Given the description of an element on the screen output the (x, y) to click on. 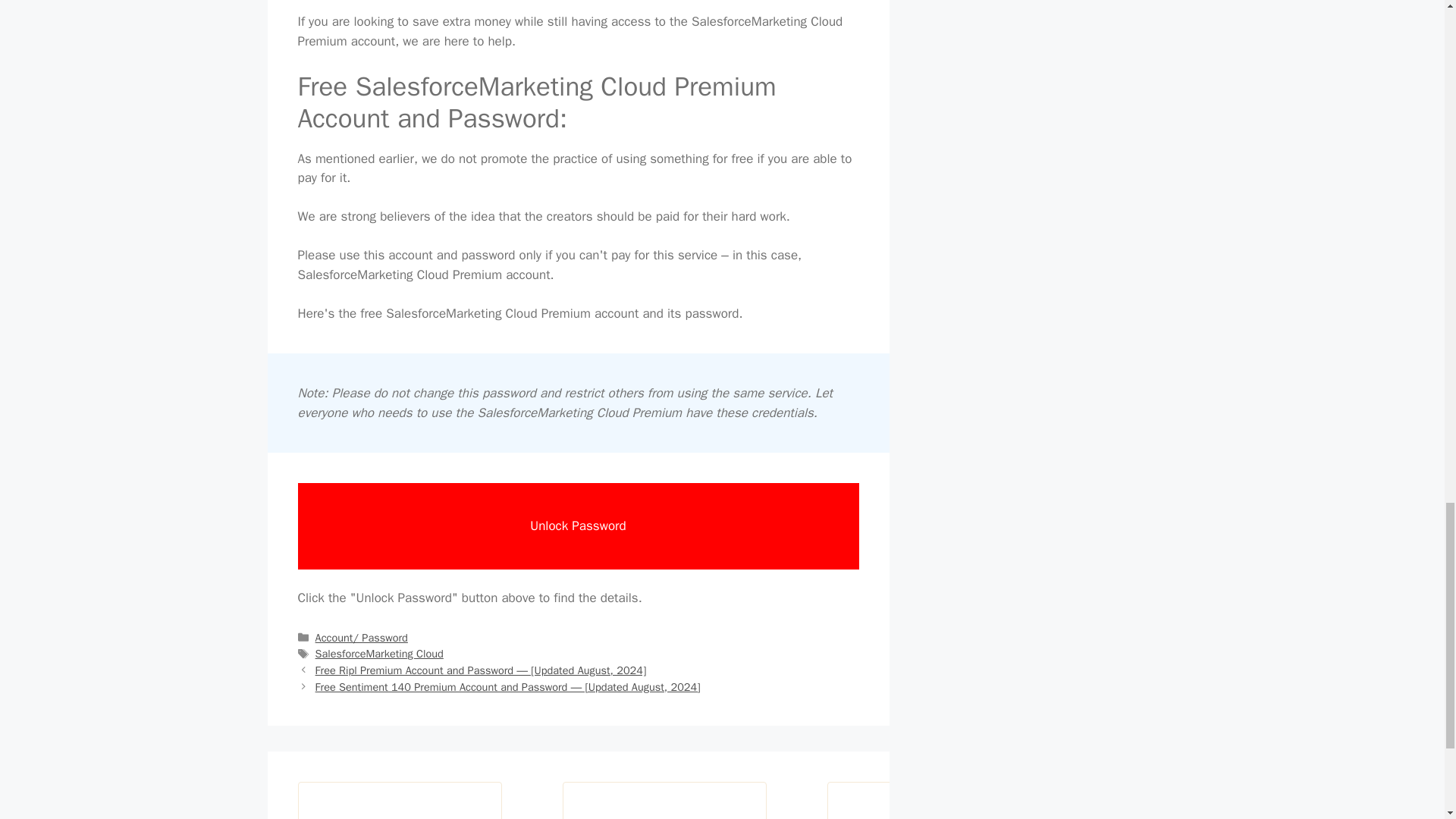
Next (507, 686)
Previous (480, 670)
Unlock Password (578, 526)
SalesforceMarketing Cloud (379, 653)
